Given the description of an element on the screen output the (x, y) to click on. 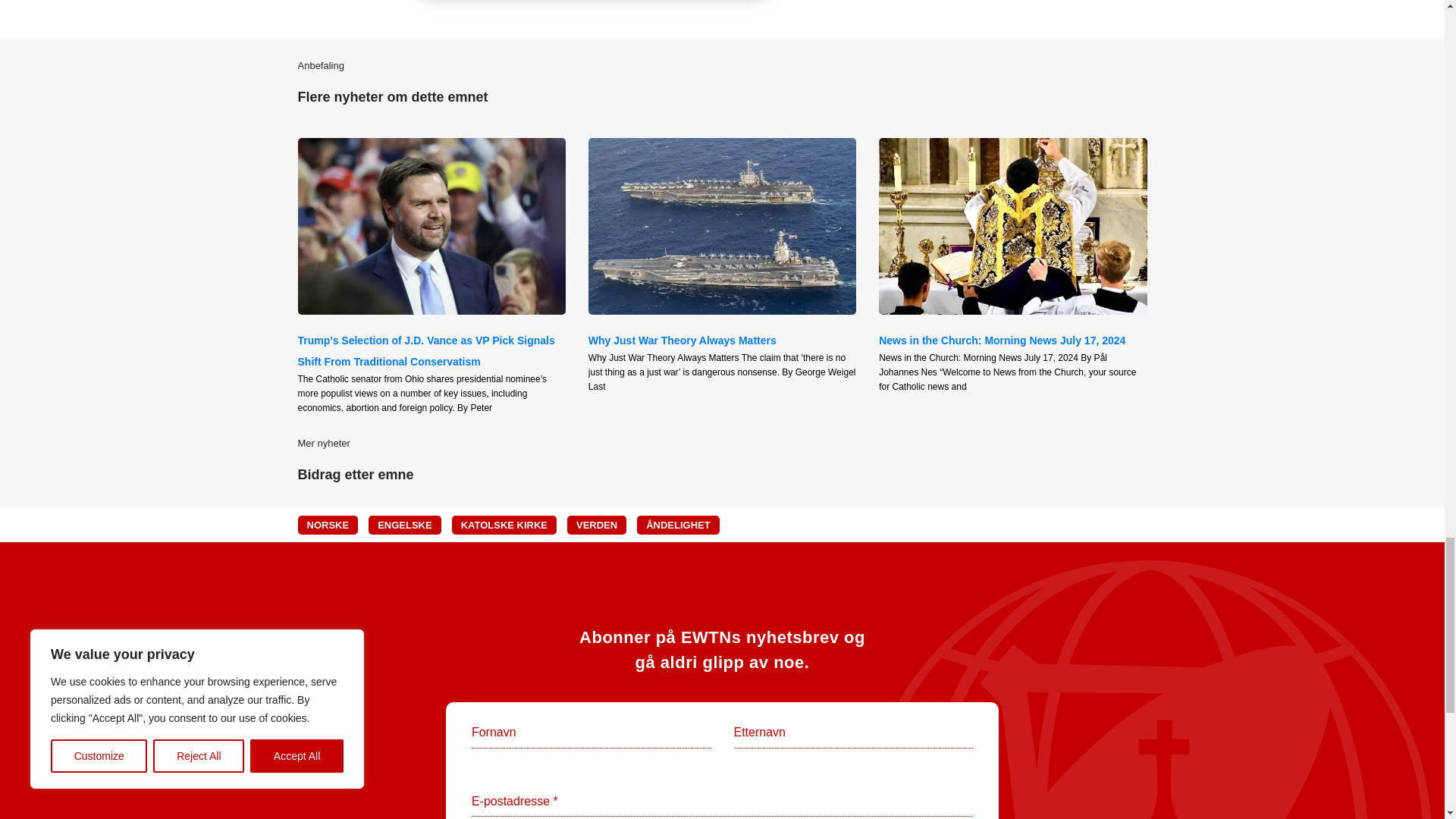
Why Just War Theory Always Matters (682, 340)
